Given the description of an element on the screen output the (x, y) to click on. 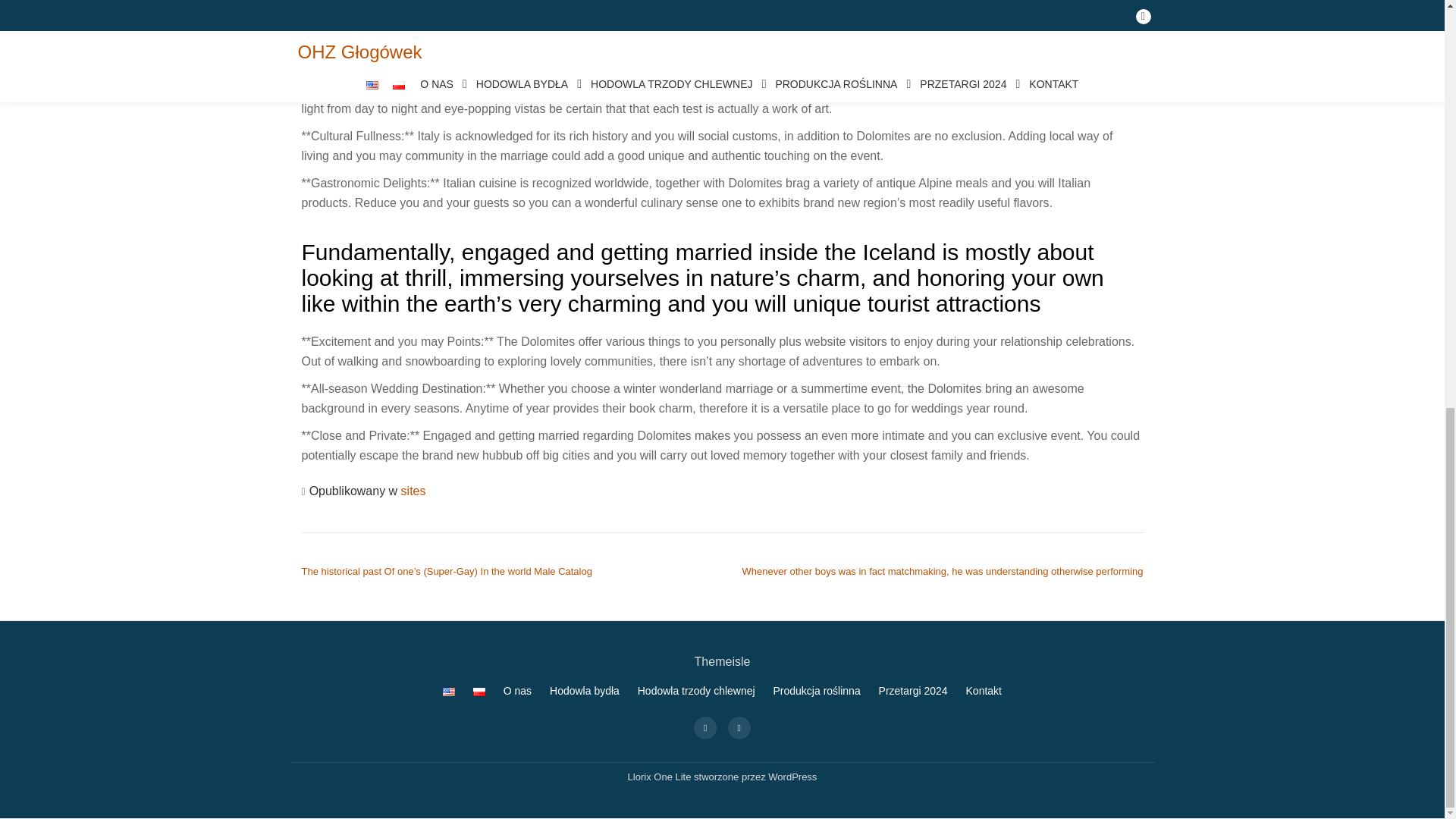
O nas (517, 690)
Llorix One Lite (660, 776)
Przetargi 2024 (913, 690)
fa-youtube (738, 726)
Hodowla trzody chlewnej (696, 690)
fa-facebook (705, 726)
Kontakt (983, 690)
sites (413, 490)
